Given the description of an element on the screen output the (x, y) to click on. 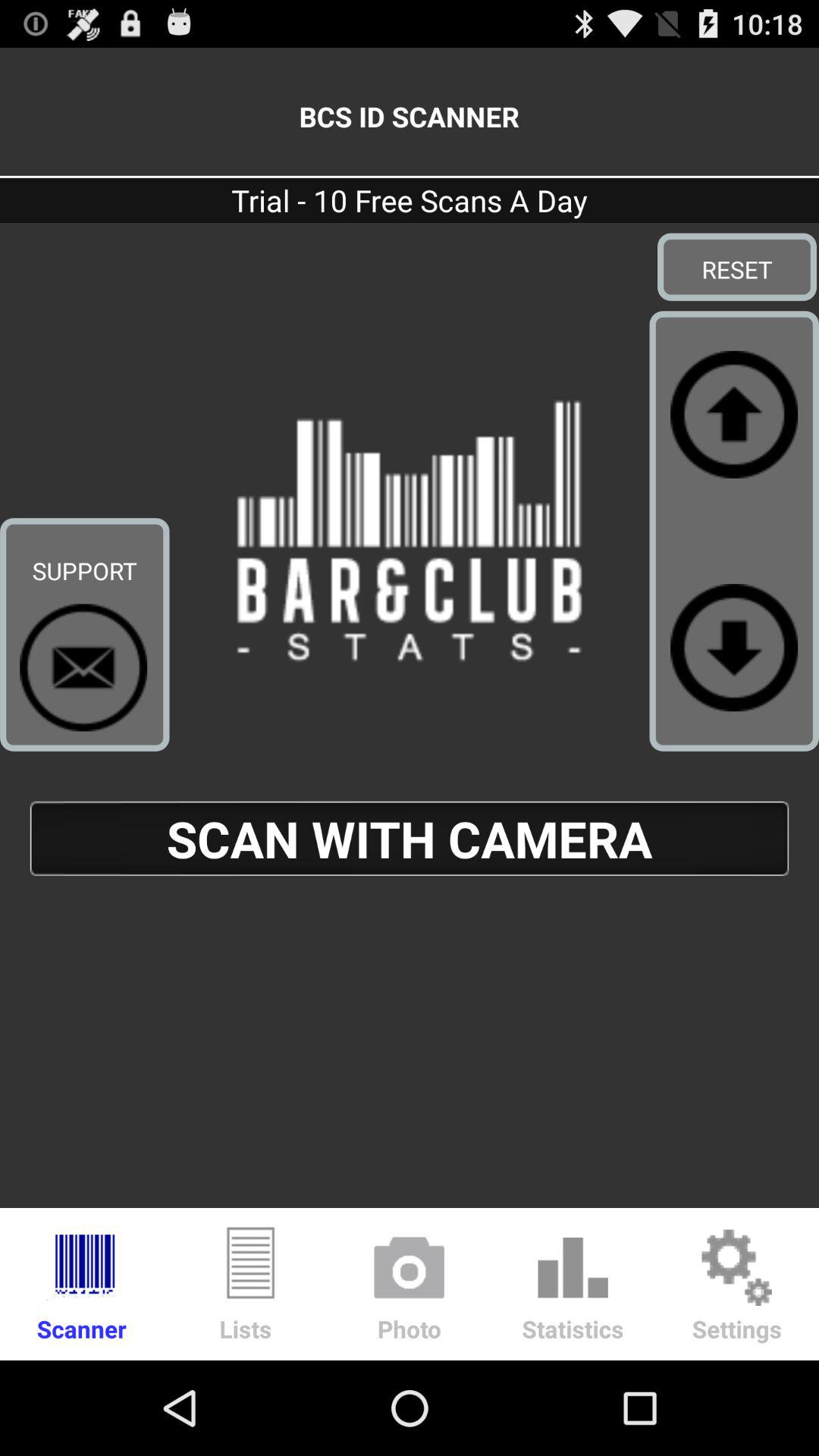
contact support (83, 667)
